Given the description of an element on the screen output the (x, y) to click on. 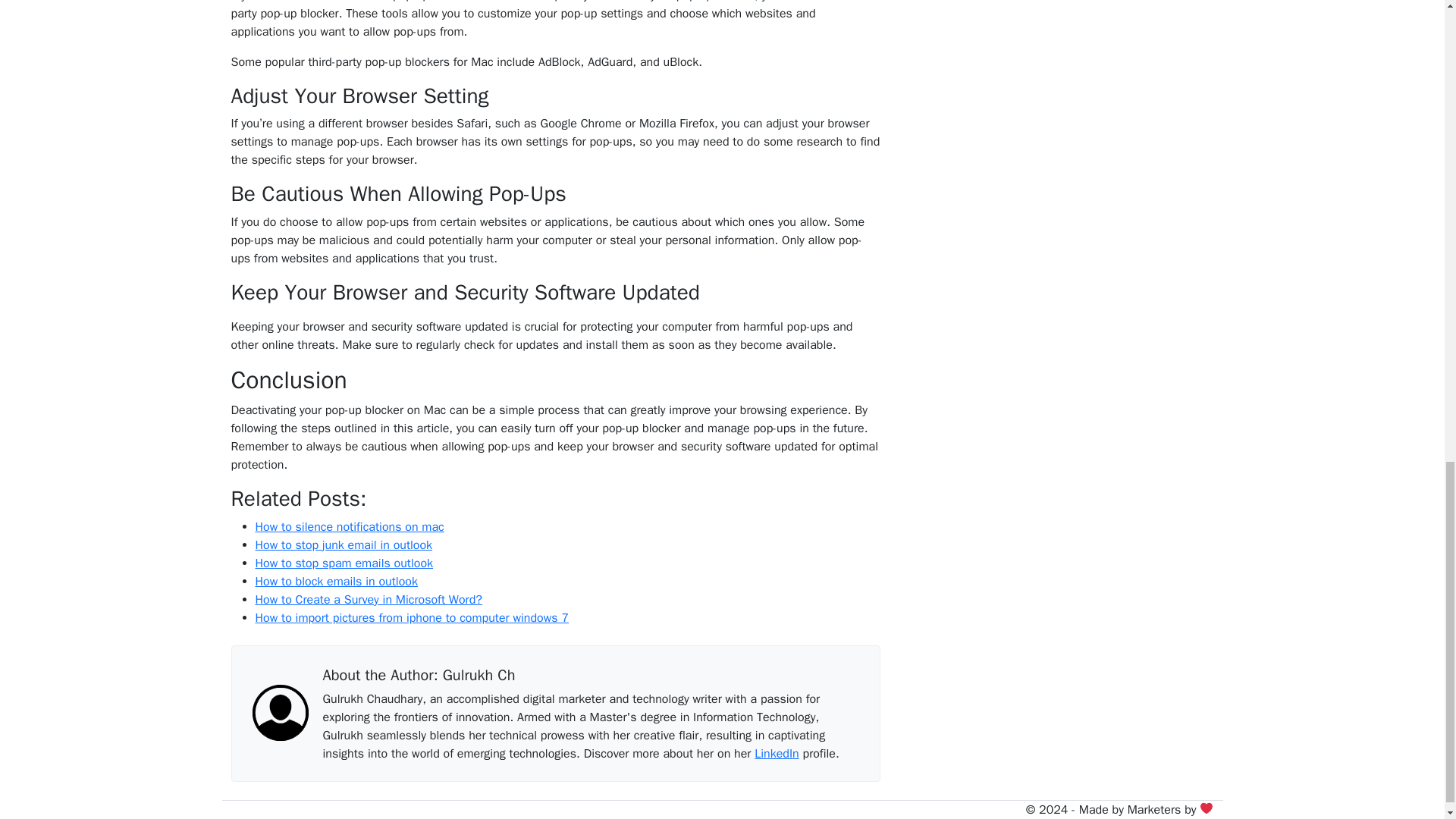
How to stop spam emails outlook (343, 563)
LinkedIn (775, 752)
How to Create a Survey in Microsoft Word? (367, 599)
How to import pictures from iphone to computer windows 7 (410, 617)
How to silence notifications on mac (349, 526)
How to block emails in outlook (335, 581)
How to stop junk email in outlook (343, 544)
